Given the description of an element on the screen output the (x, y) to click on. 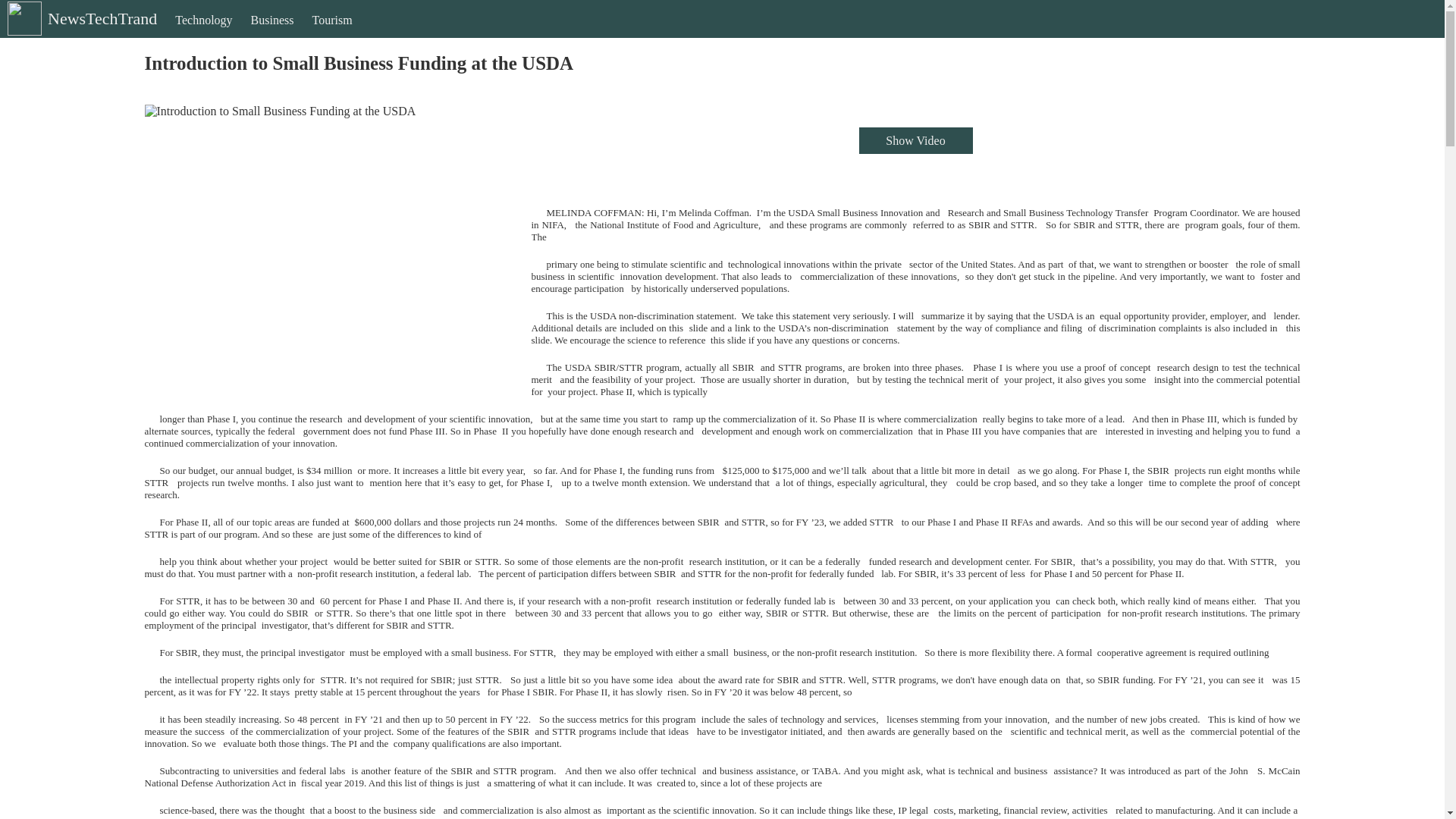
Technology (202, 32)
Show Video (915, 140)
Tourism (332, 32)
Introduction to Small Business Funding at the USDA (326, 240)
NewsTechTrand (80, 31)
Business (272, 32)
